Given the description of an element on the screen output the (x, y) to click on. 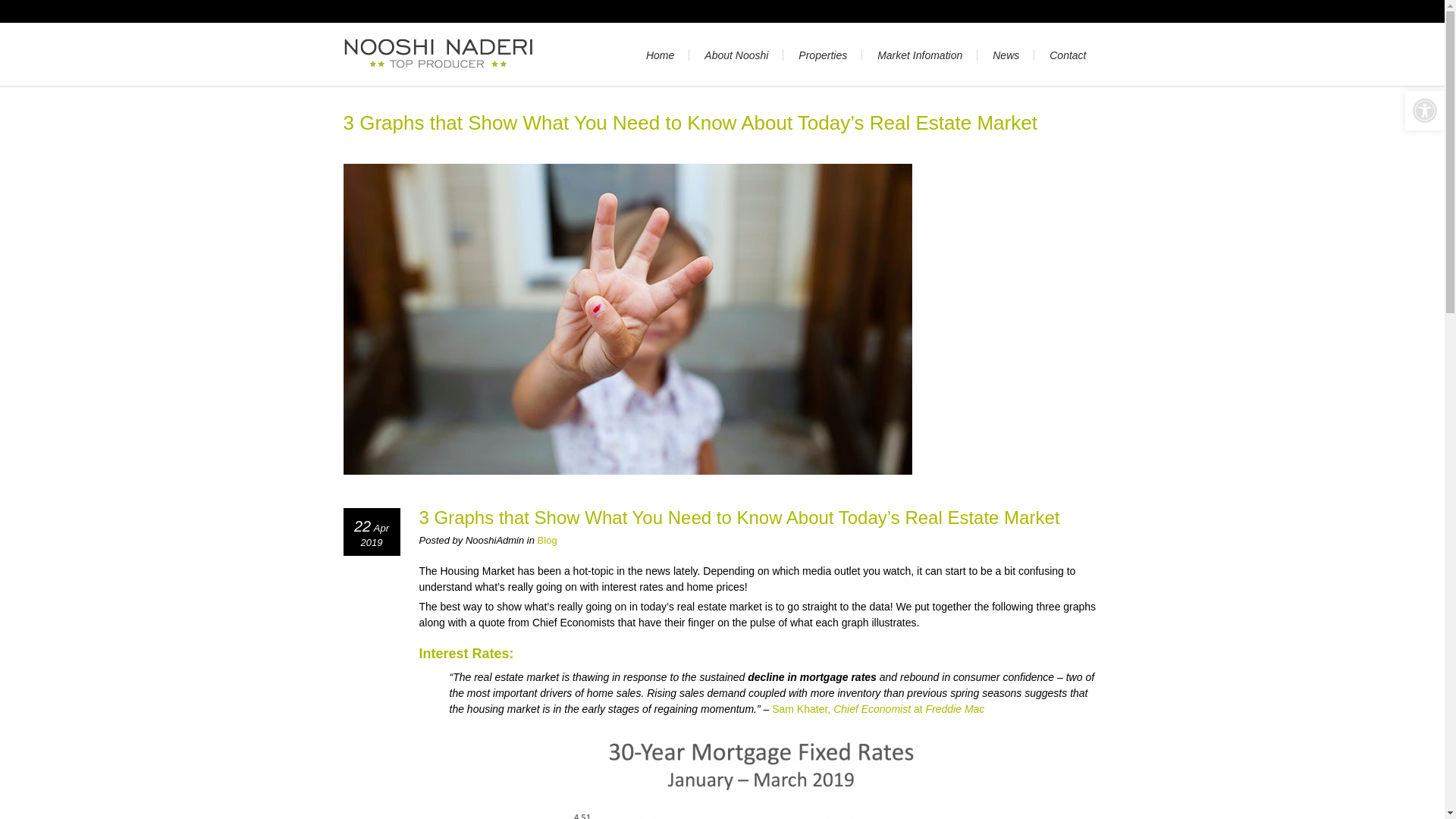
Properties (822, 54)
Market Infomation (918, 54)
News (1004, 54)
Sam Khater, Chief Economist at Freddie Mac (877, 708)
Blog (547, 540)
Contact (1066, 54)
Home (659, 54)
Accessibility Tools (1424, 110)
About Nooshi (735, 54)
